Given the description of an element on the screen output the (x, y) to click on. 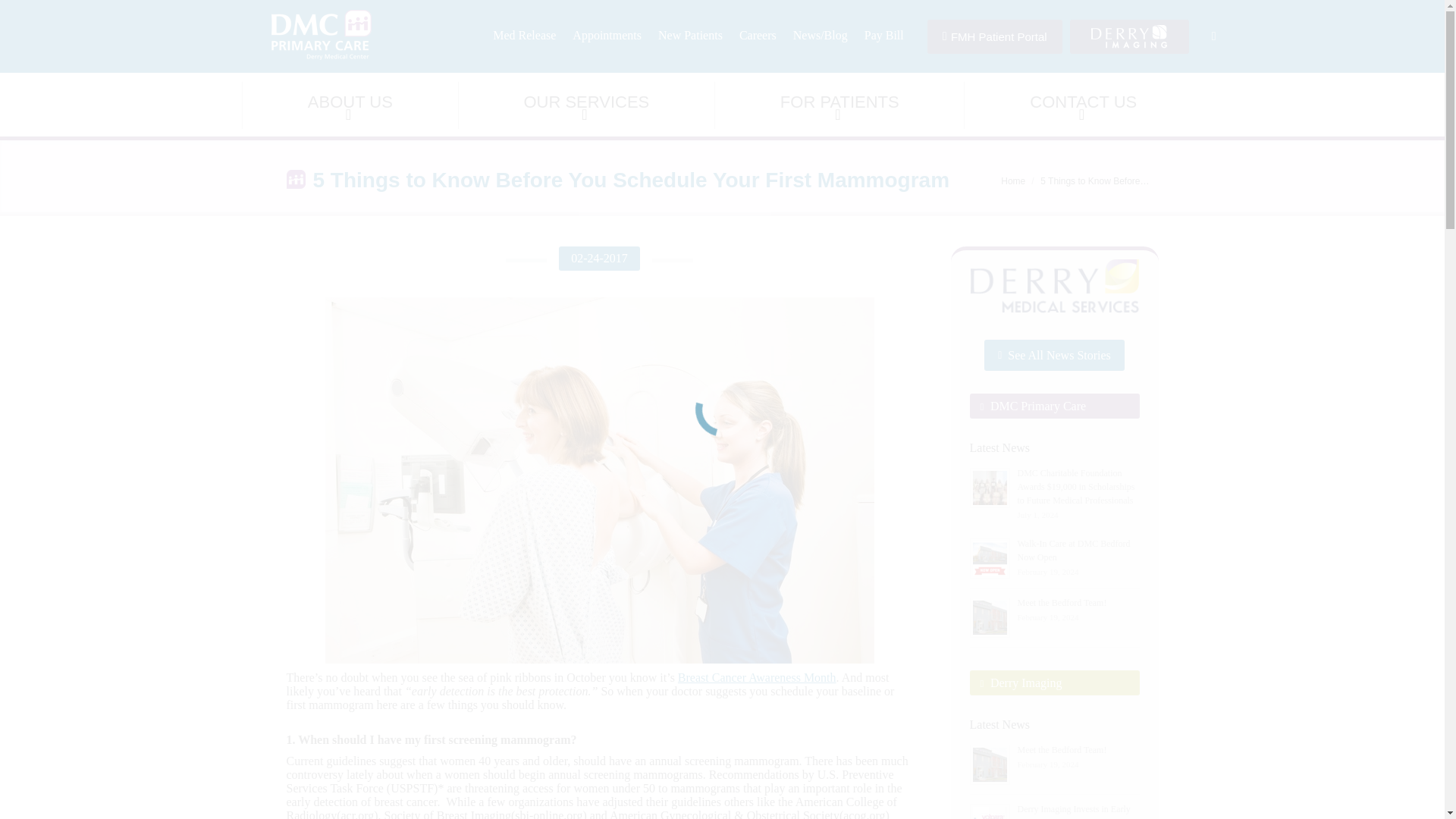
Permalink to Meet the Bedford Team! (1061, 749)
Appointments (606, 35)
Careers (757, 35)
Permalink to Meet the Bedford Team! (1061, 602)
Go! (15, 10)
Med Release (524, 35)
Home (1013, 181)
New Patients (689, 35)
FMH Patient Portal (994, 36)
OUR SERVICES (586, 104)
